Given the description of an element on the screen output the (x, y) to click on. 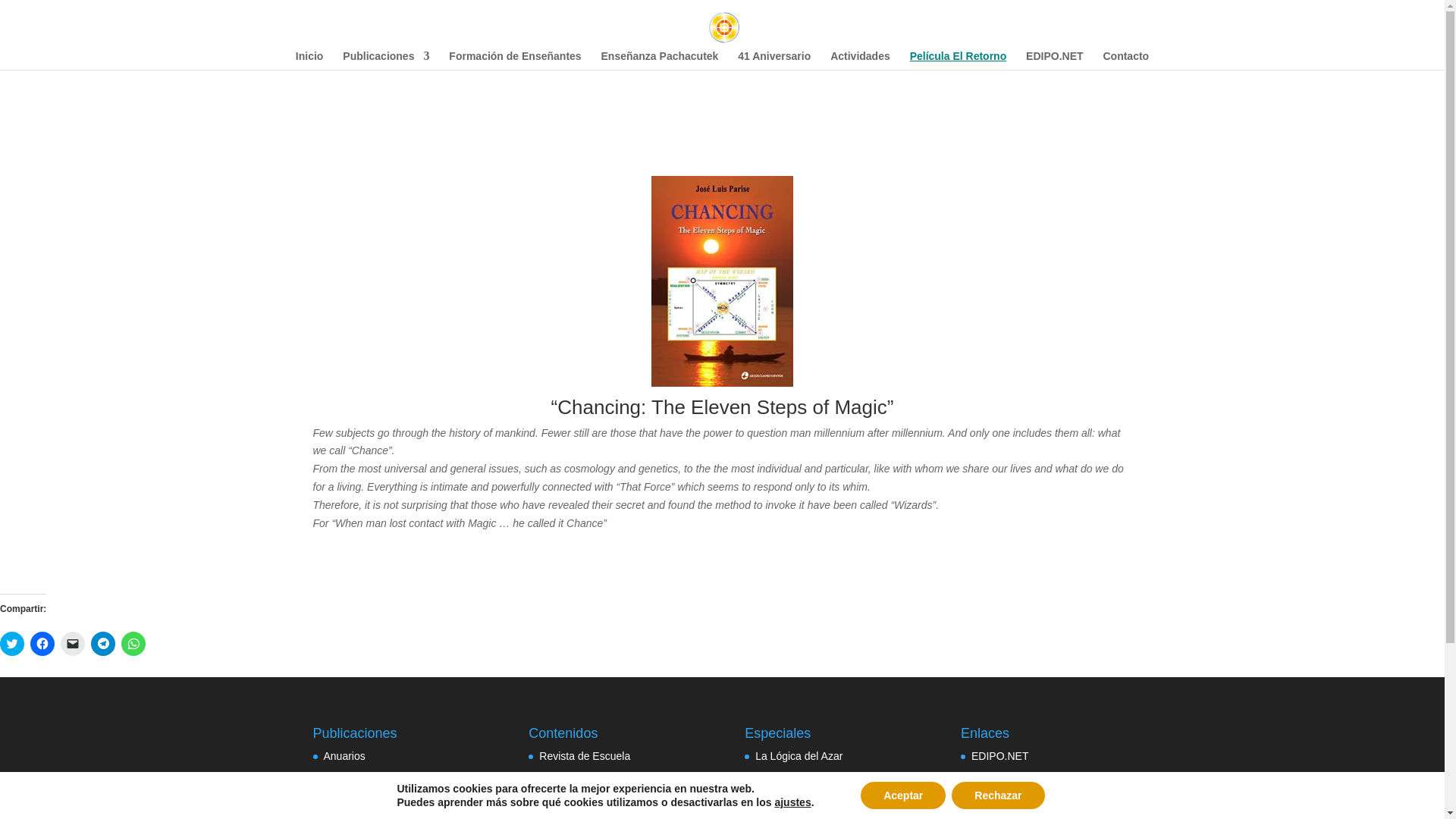
Haz clic para compartir en Telegram (102, 643)
Haz clic para compartir en Twitter (12, 643)
Haz clic para compartir en Facebook (42, 643)
Contacto (1125, 59)
41 Aniversario (774, 59)
Publicaciones (385, 59)
Actividades (859, 59)
Haz clic para compartir en WhatsApp (132, 643)
EDIPO.NET (1054, 59)
Inicio (309, 59)
